Given the description of an element on the screen output the (x, y) to click on. 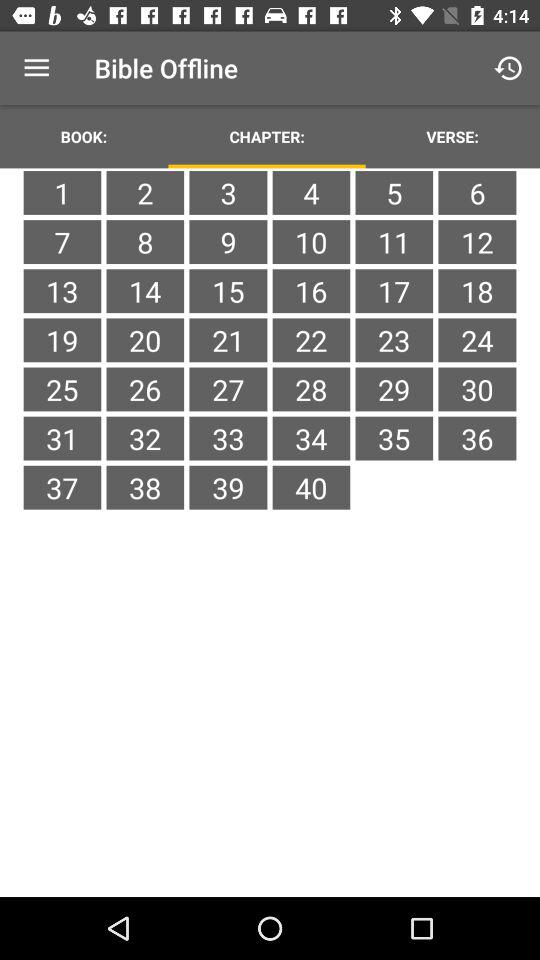
jump to the 35 (394, 438)
